Given the description of an element on the screen output the (x, y) to click on. 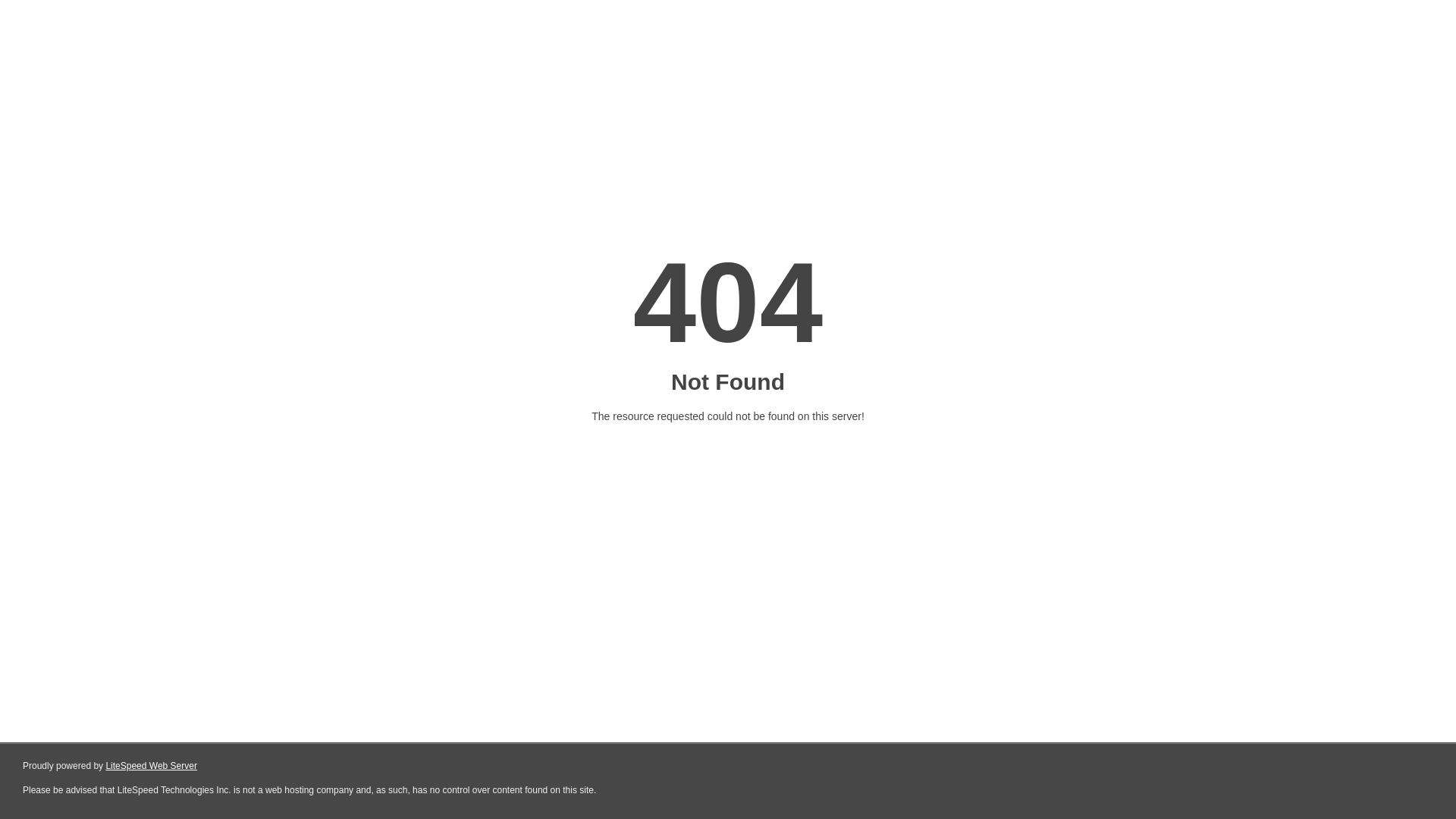
LiteSpeed Web Server Element type: text (151, 765)
